Given the description of an element on the screen output the (x, y) to click on. 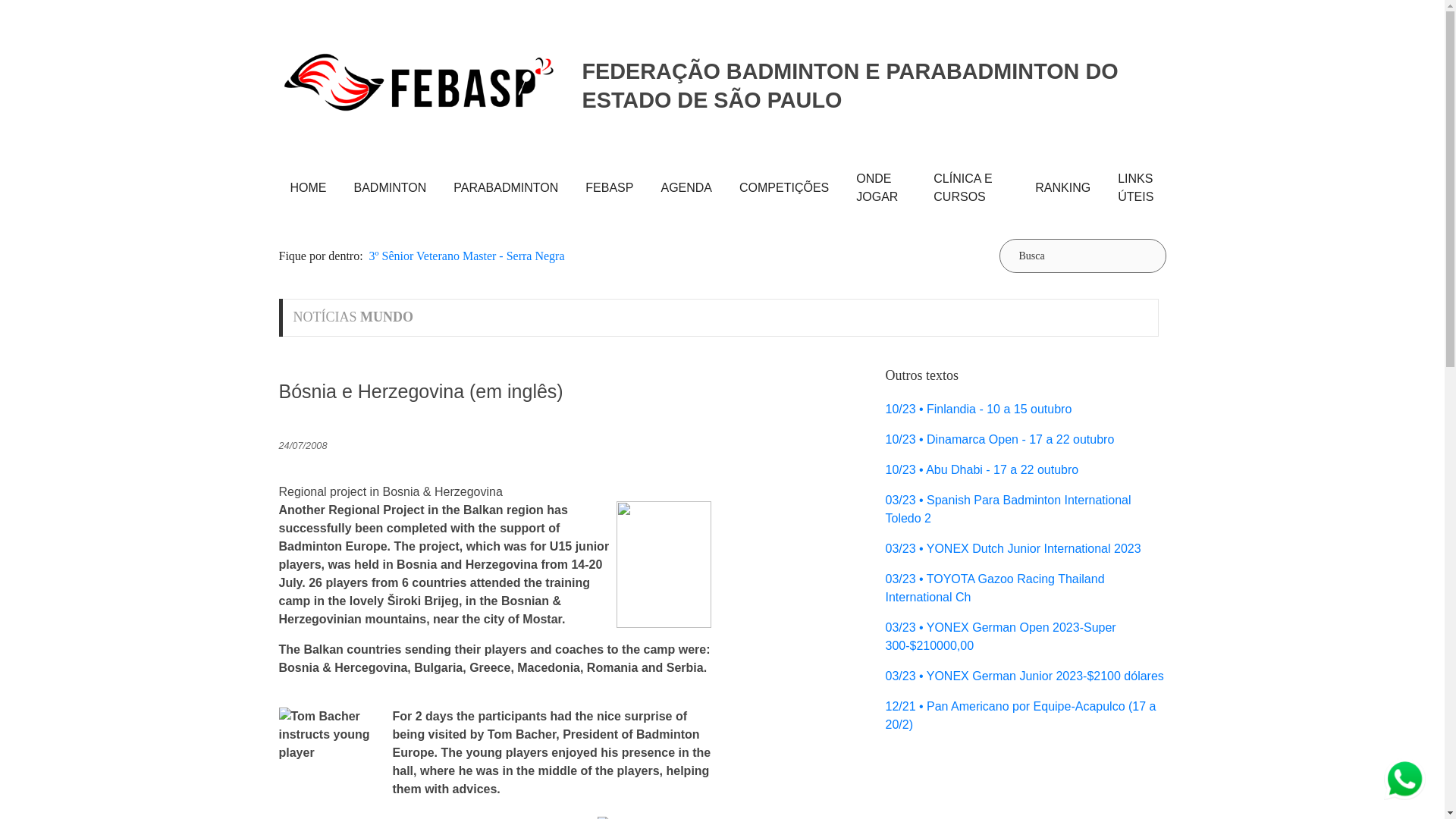
Atendimento por whatsapp (1404, 779)
Atendimento por Whatsapp (1404, 778)
